Given the description of an element on the screen output the (x, y) to click on. 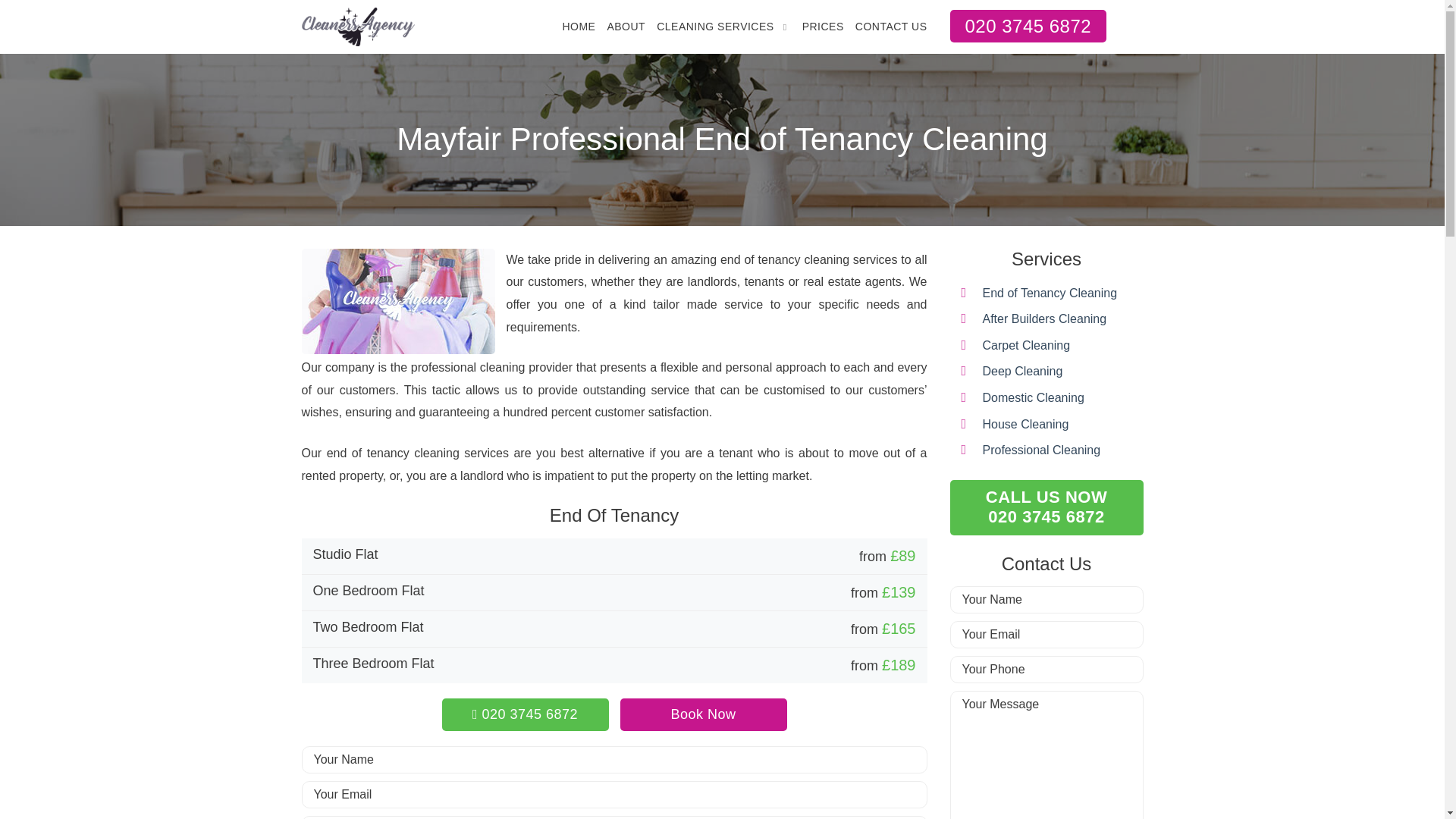
Professional Cleaning (1041, 449)
ABOUT (626, 26)
Carpet Cleaning (1026, 345)
After Builders Cleaning (1044, 318)
Deep Cleaning (1045, 507)
CLEANING SERVICES (1022, 370)
PRICES (715, 26)
End of Tenancy Cleaning (823, 26)
House Cleaning (1050, 292)
020 3745 6872 (1025, 423)
HOME (524, 714)
Book Now (578, 26)
Domestic Cleaning (703, 714)
020 3745 6872 (1033, 397)
